Given the description of an element on the screen output the (x, y) to click on. 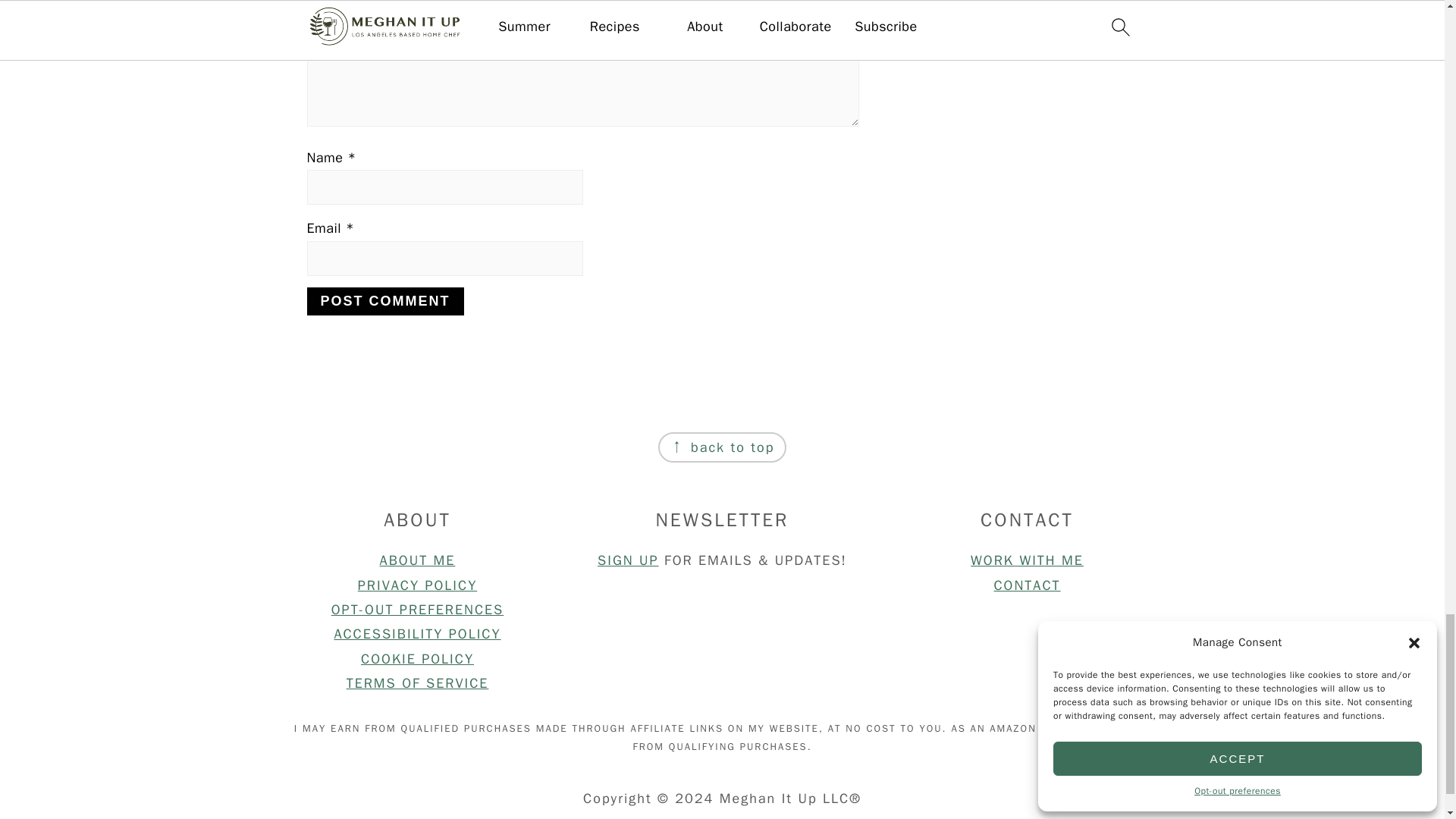
Post Comment (384, 301)
